Given the description of an element on the screen output the (x, y) to click on. 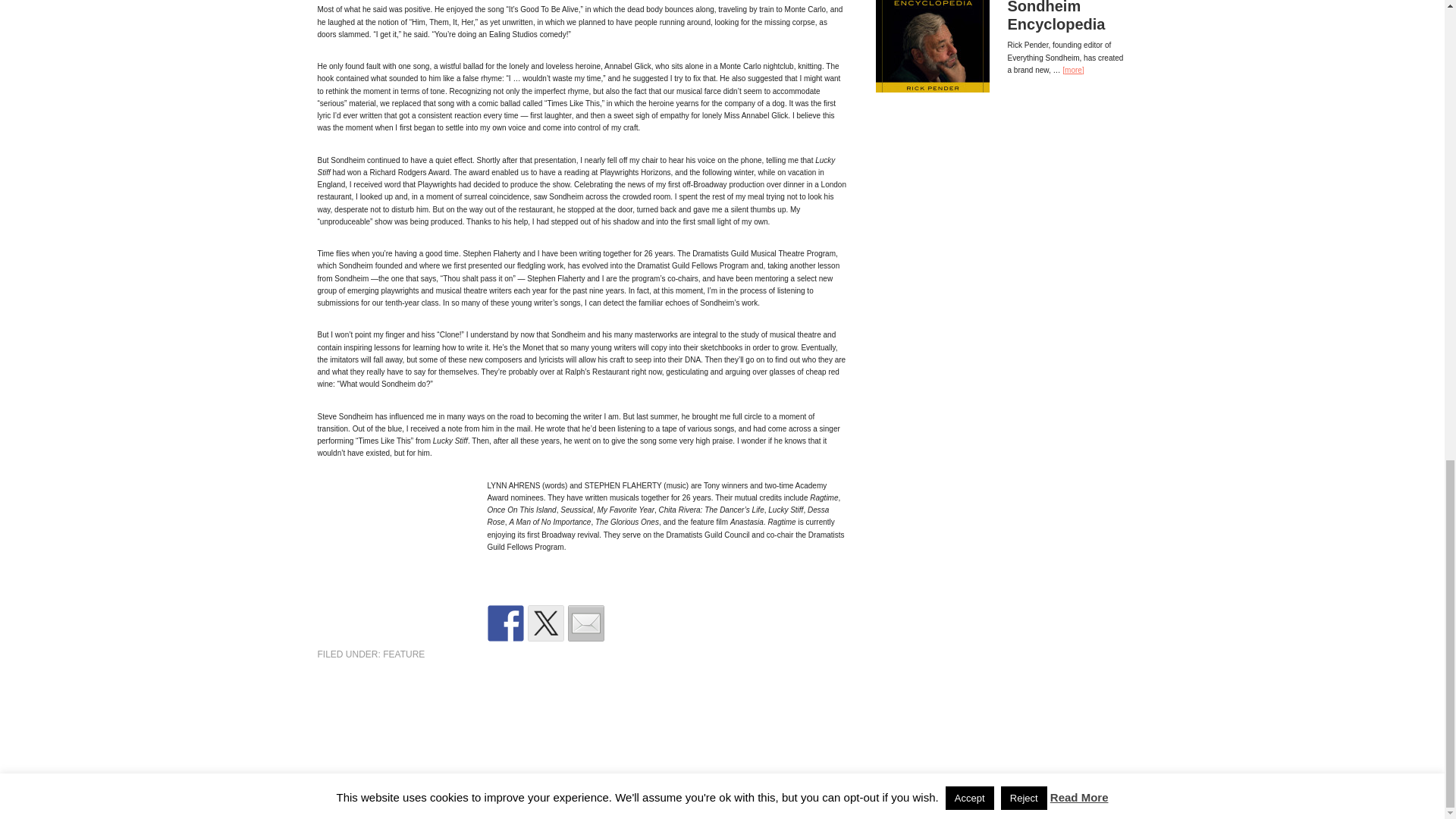
FEATURE (403, 654)
Share by email (585, 623)
Share on Twitter (545, 623)
Share on Facebook (504, 623)
